Given the description of an element on the screen output the (x, y) to click on. 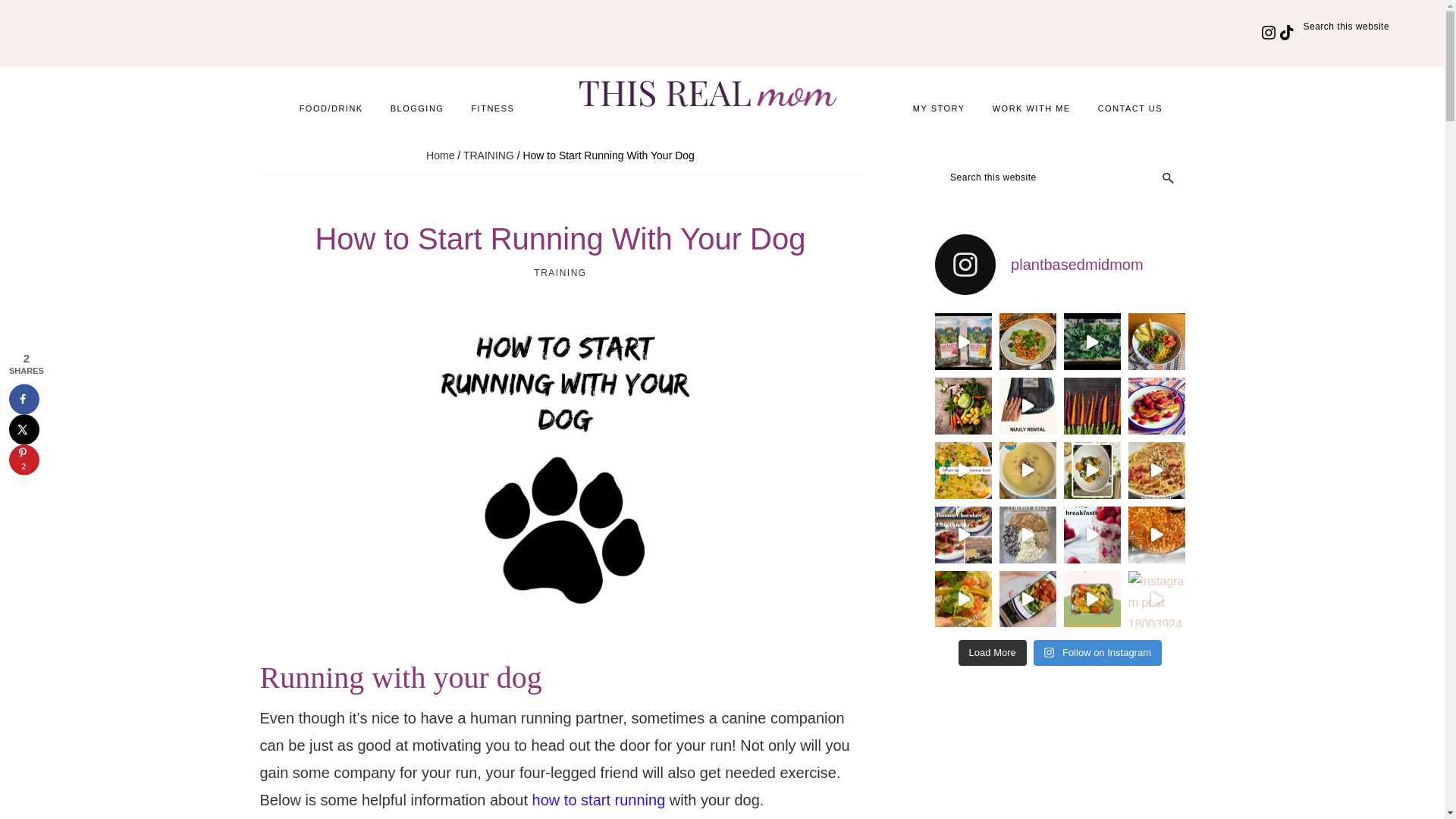
INSTAGRAM (1259, 20)
TRAINING (560, 272)
FITNESS (492, 112)
TIKTOK (1278, 20)
plantbasedmidmom (1059, 264)
BLOGGING (417, 112)
